Given the description of an element on the screen output the (x, y) to click on. 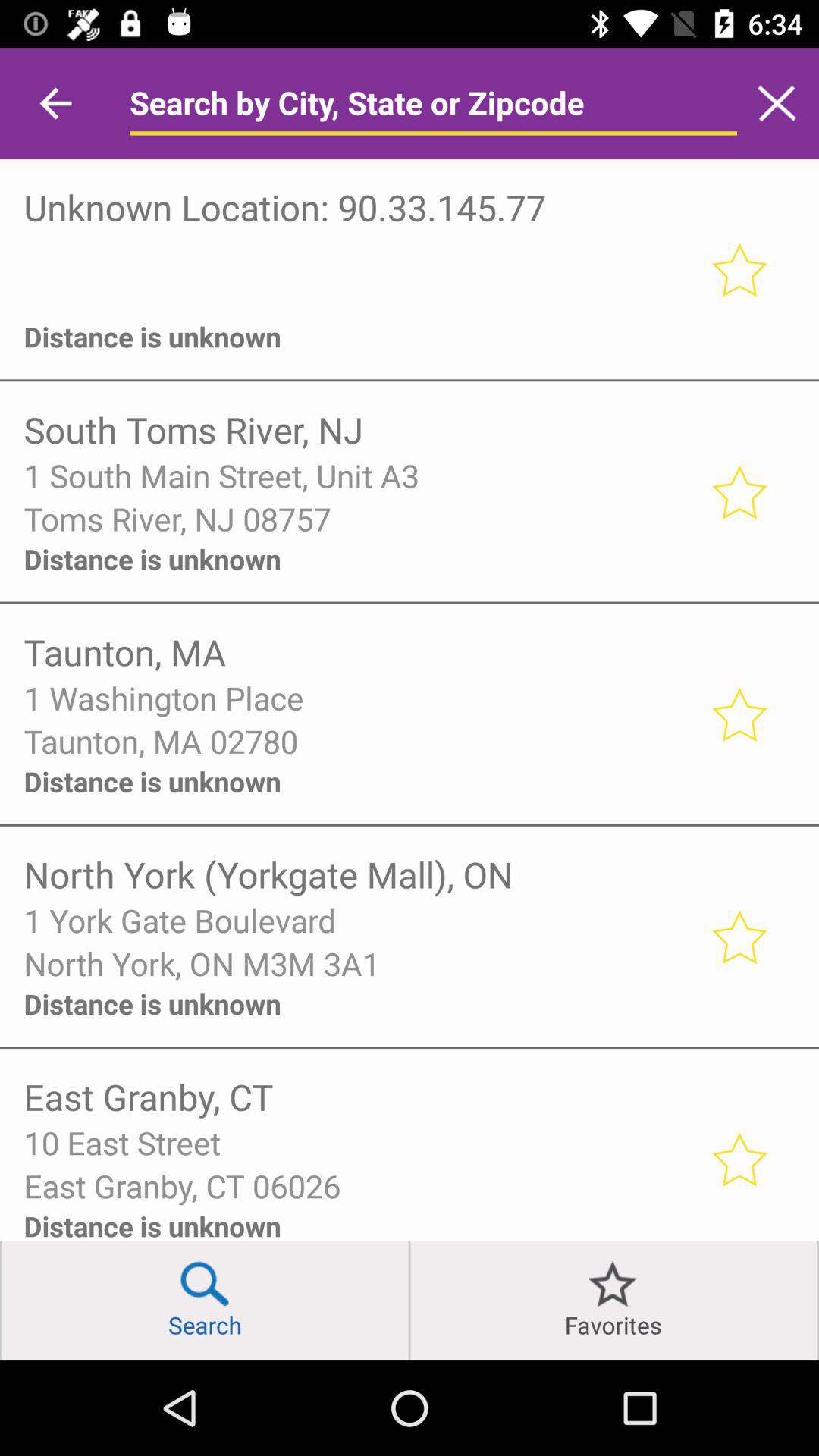
put this location in your favourites (738, 1158)
